Given the description of an element on the screen output the (x, y) to click on. 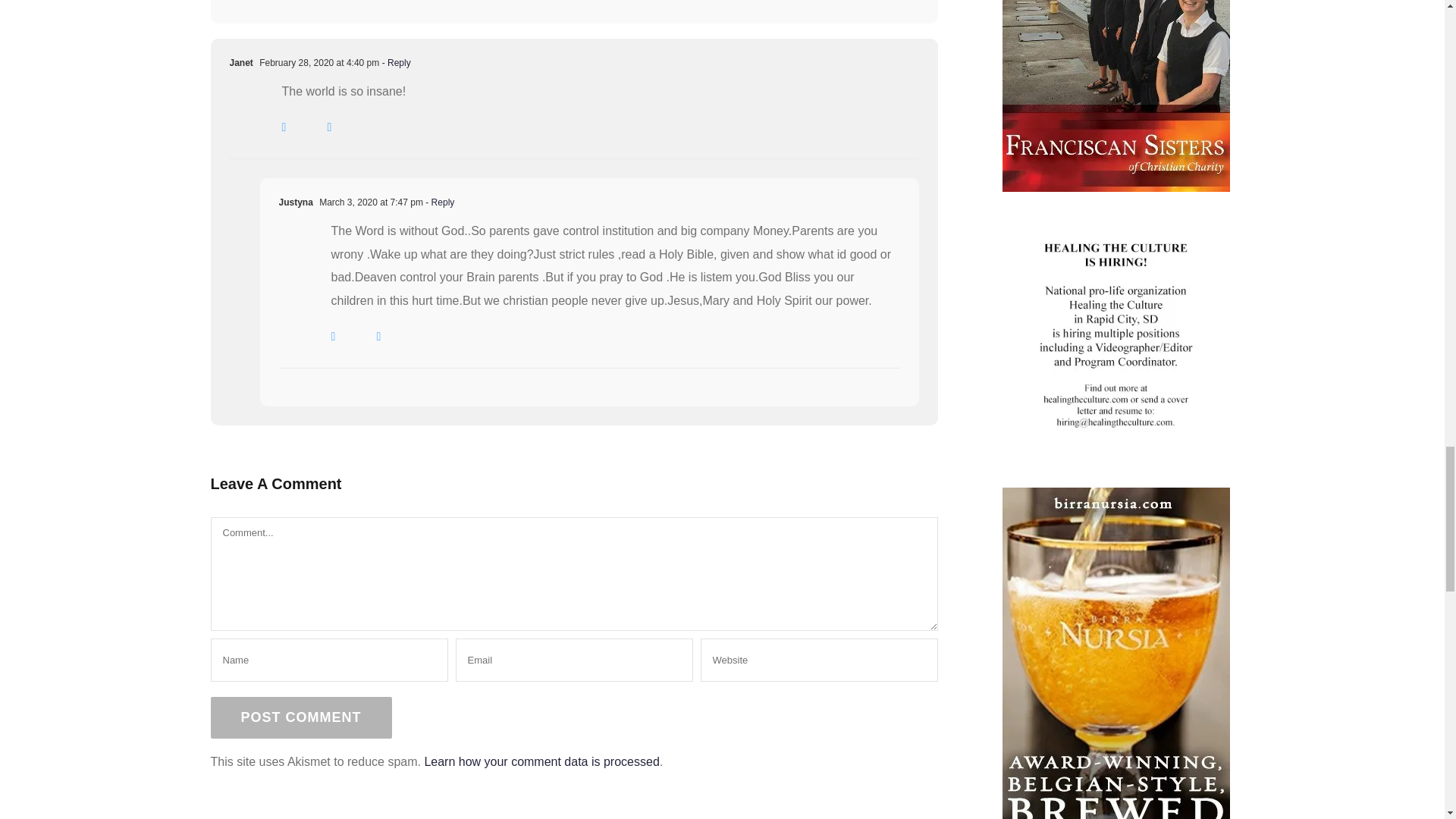
Post Comment (301, 717)
